Given the description of an element on the screen output the (x, y) to click on. 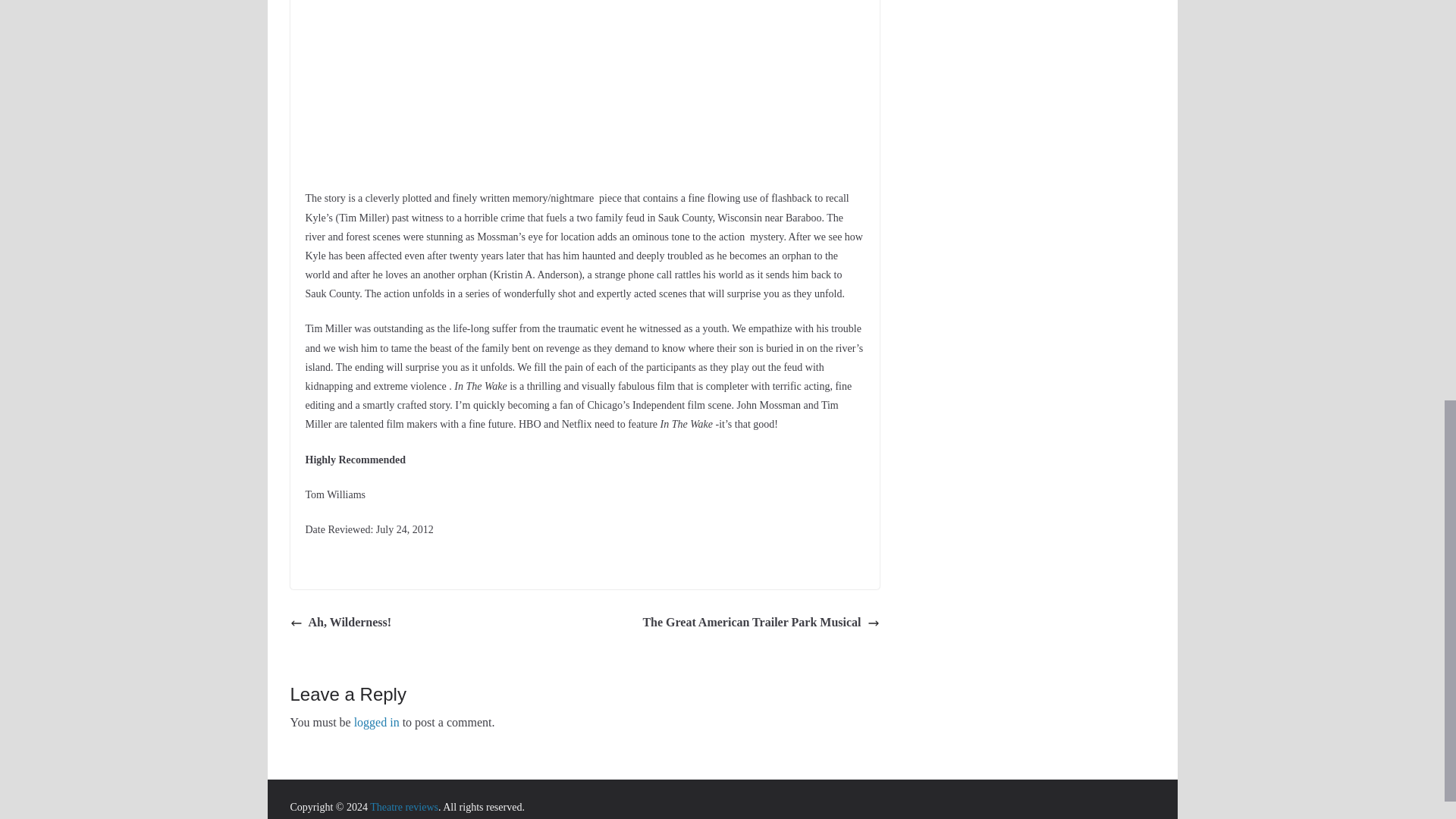
The Great American Trailer Park Musical (760, 622)
Ah, Wilderness! (340, 622)
logged in (375, 721)
